Given the description of an element on the screen output the (x, y) to click on. 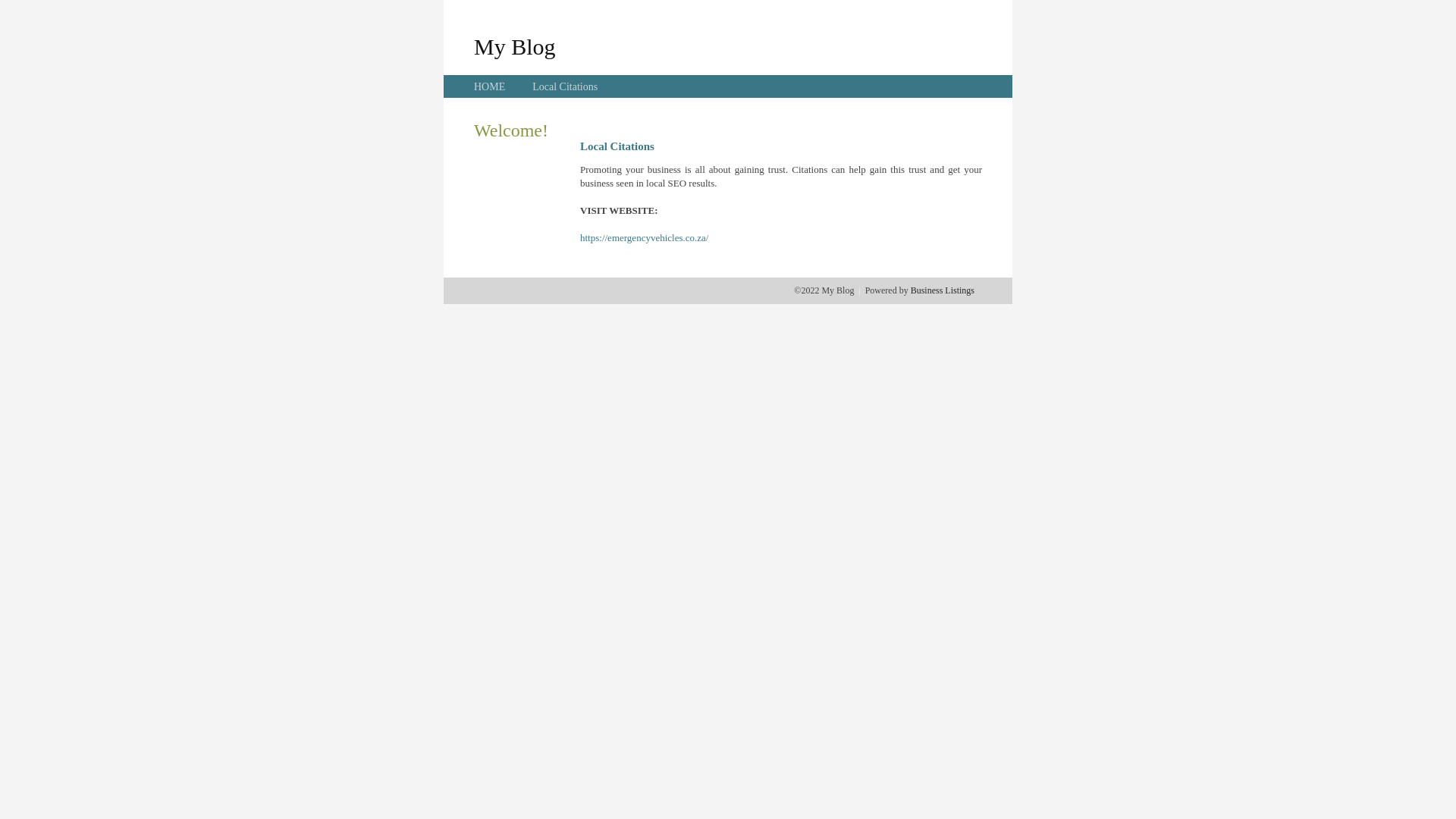
My Blog Element type: text (514, 46)
https://emergencyvehicles.co.za/ Element type: text (644, 237)
Business Listings Element type: text (942, 290)
HOME Element type: text (489, 86)
Local Citations Element type: text (564, 86)
